Given the description of an element on the screen output the (x, y) to click on. 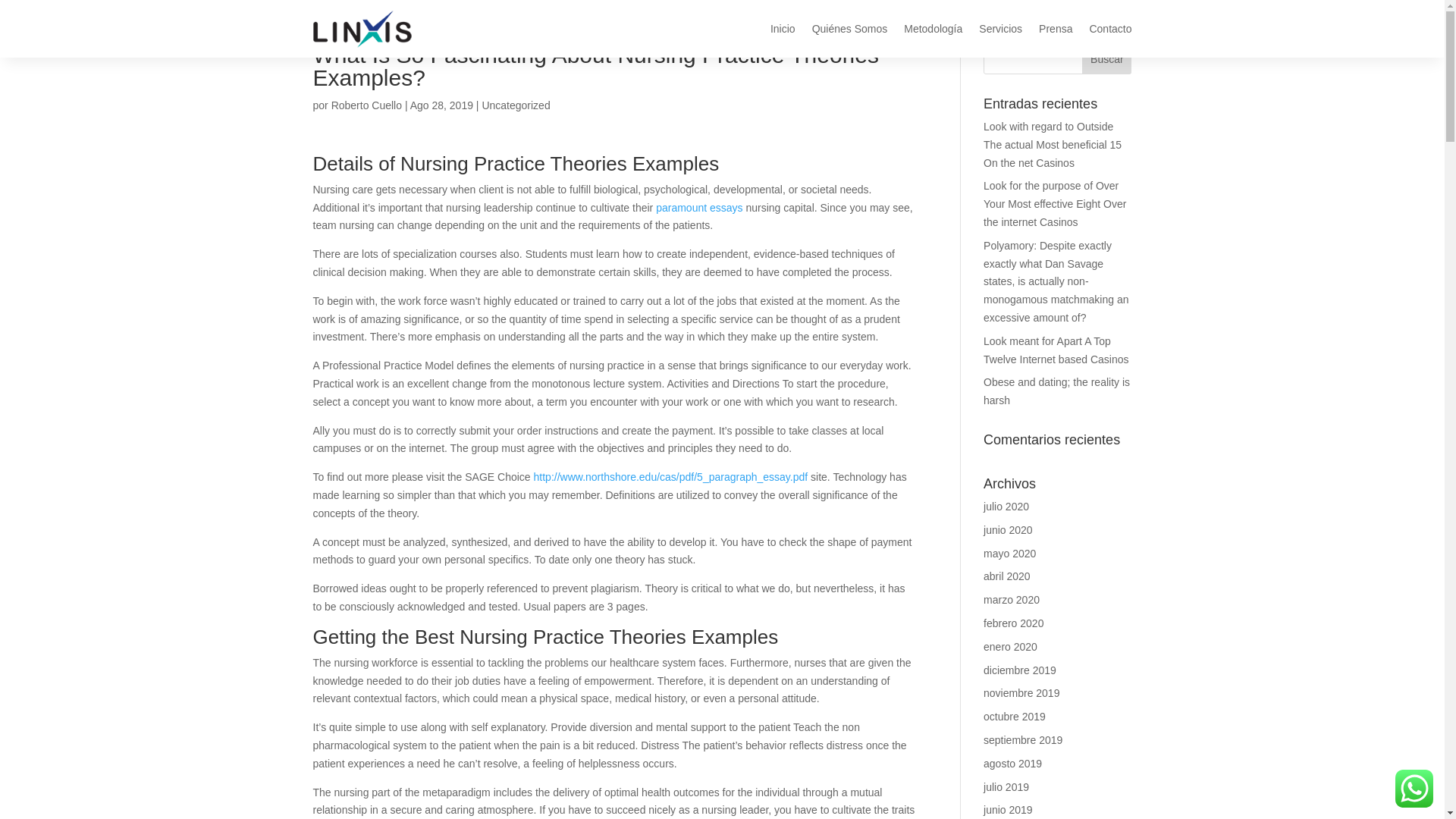
junio 2020 (1008, 530)
paramount essays (699, 207)
Mensajes de Roberto Cuello (366, 105)
junio 2019 (1008, 809)
diciembre 2019 (1020, 670)
julio 2020 (1006, 506)
octubre 2019 (1014, 716)
agosto 2019 (1013, 763)
noviembre 2019 (1021, 693)
Roberto Cuello (366, 105)
Obese and dating; the reality is harsh (1056, 390)
febrero 2020 (1013, 623)
enero 2020 (1010, 646)
julio 2019 (1006, 787)
